Given the description of an element on the screen output the (x, y) to click on. 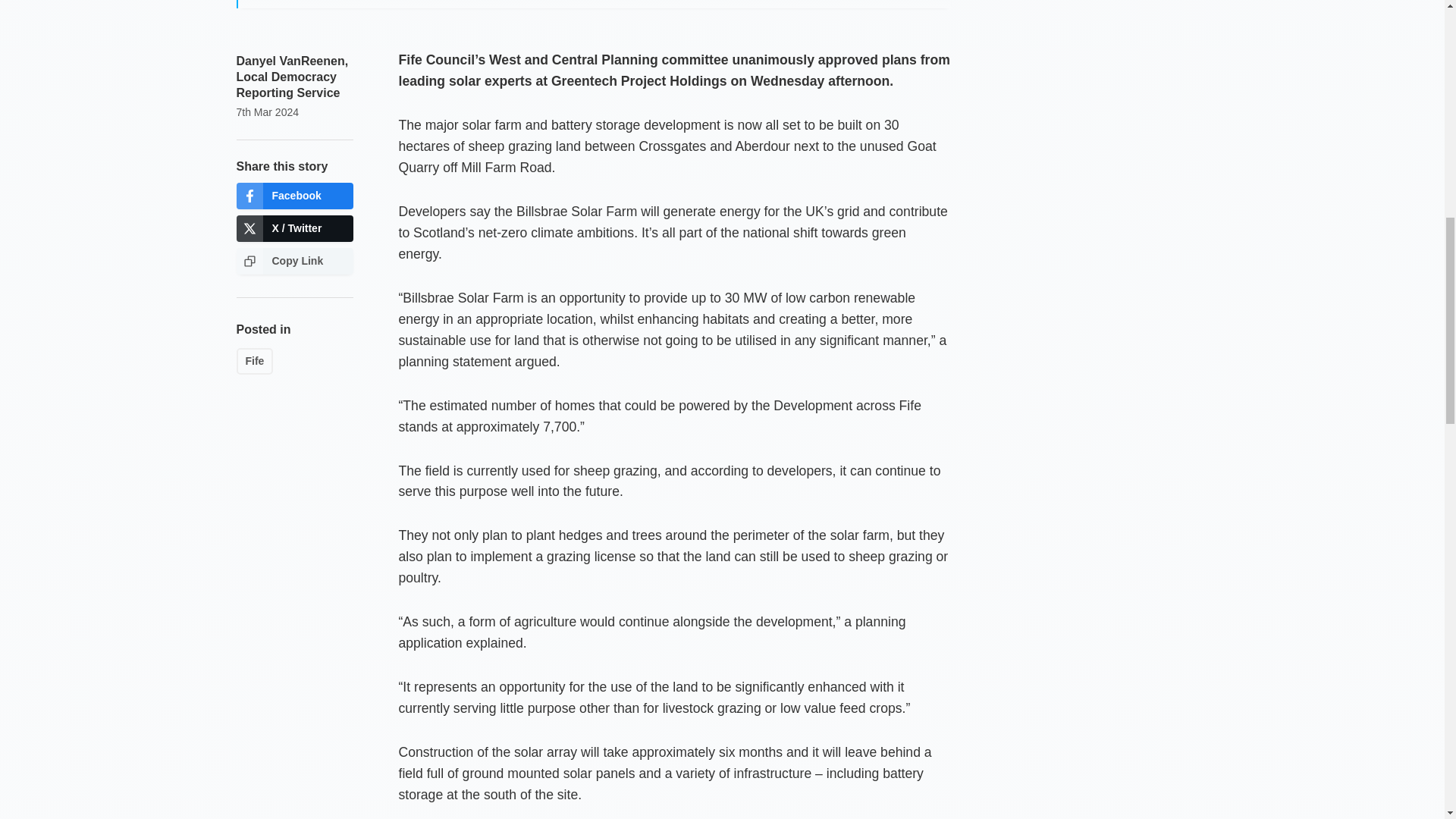
Facebook (294, 195)
Danyel VanReenen, Local Democracy Reporting Service (292, 76)
